Given the description of an element on the screen output the (x, y) to click on. 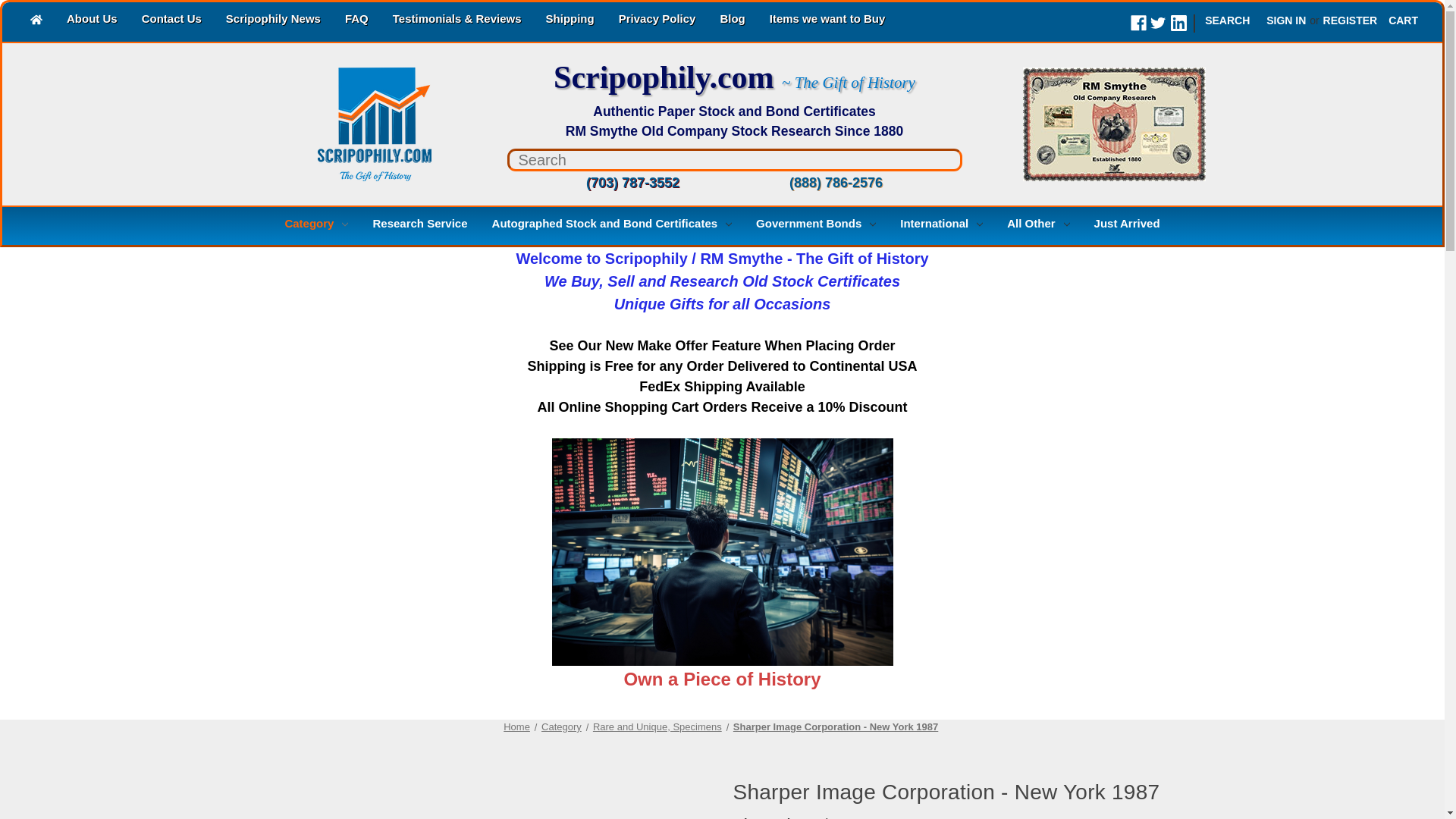
Category (315, 225)
Contact Us (171, 20)
Blog (732, 20)
REGISTER (1350, 20)
Items we want to Buy (827, 20)
Scripophily News (273, 20)
Scripophily.com (341, 123)
CART (1403, 20)
SIGN IN (1285, 20)
SEARCH (1226, 20)
FAQ (356, 20)
Privacy Policy (657, 20)
Shipping (570, 20)
About Us (92, 20)
